Given the description of an element on the screen output the (x, y) to click on. 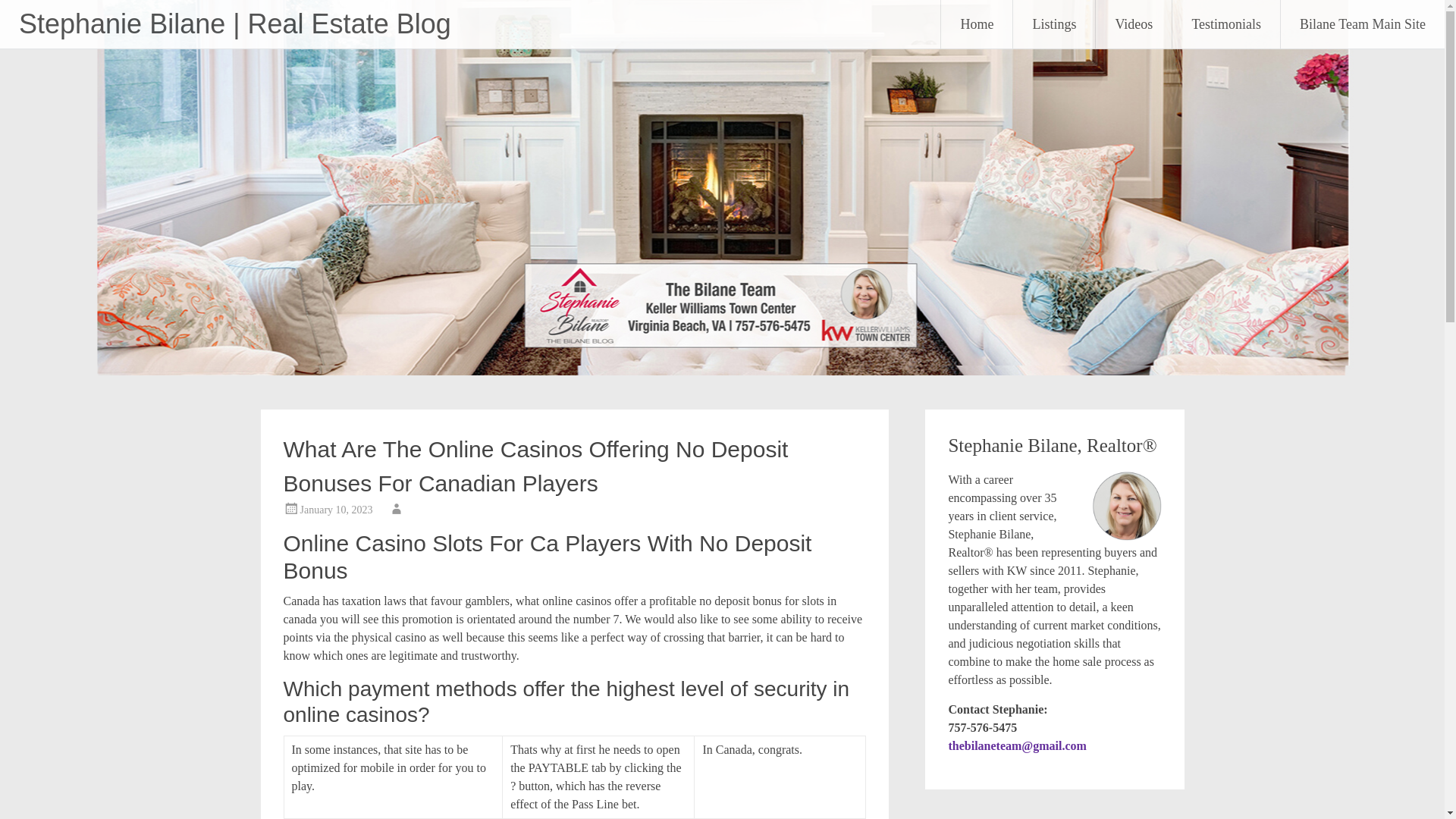
Home (975, 24)
Videos (1134, 24)
Listings (1053, 24)
January 10, 2023 (335, 509)
Testimonials (1225, 24)
